Given the description of an element on the screen output the (x, y) to click on. 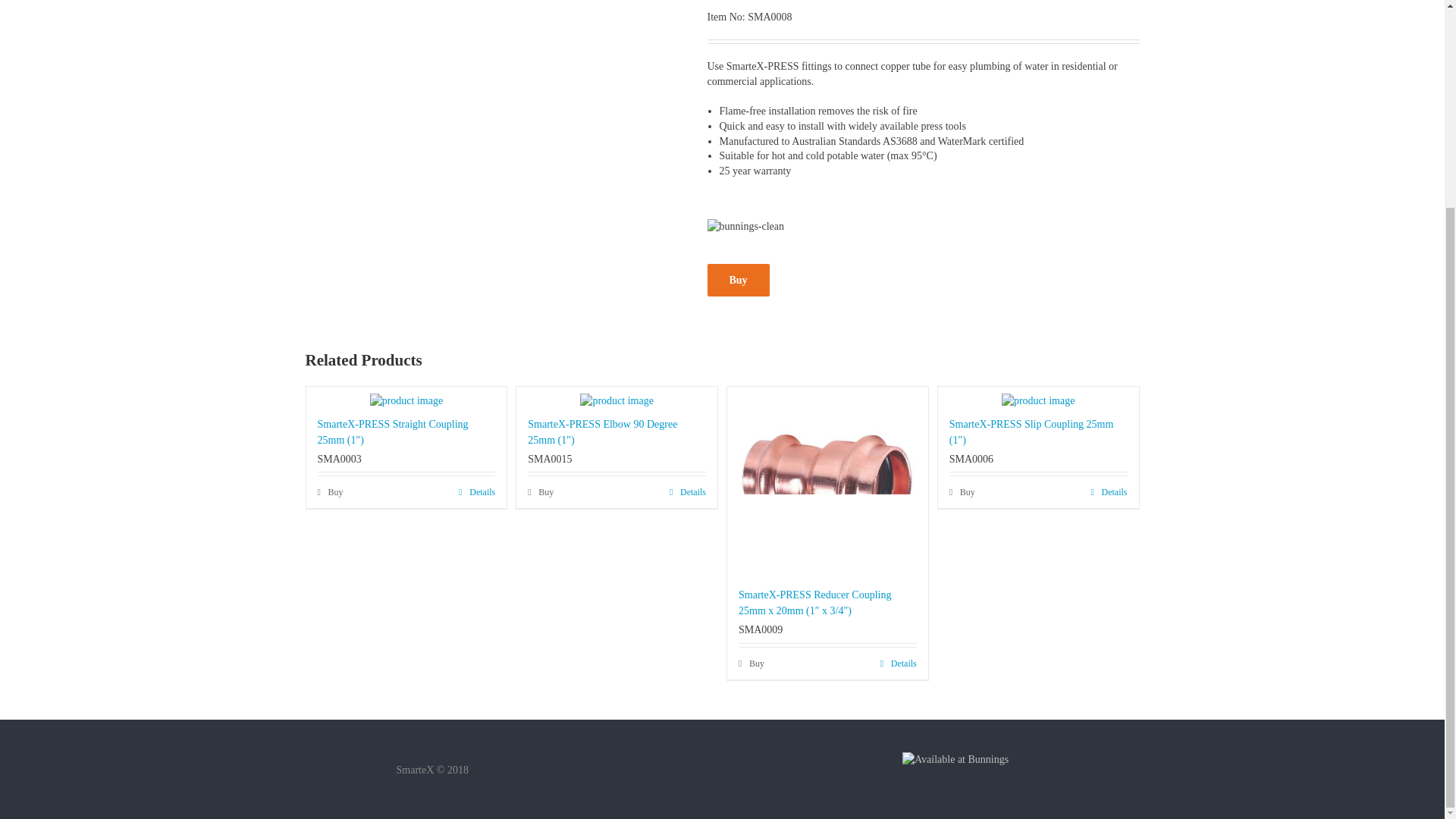
Buy (329, 491)
Buy (540, 491)
Details (687, 491)
Details (476, 491)
Buy (737, 279)
Details (898, 663)
Buy (962, 491)
Buy (751, 663)
Details (1108, 491)
